Given the description of an element on the screen output the (x, y) to click on. 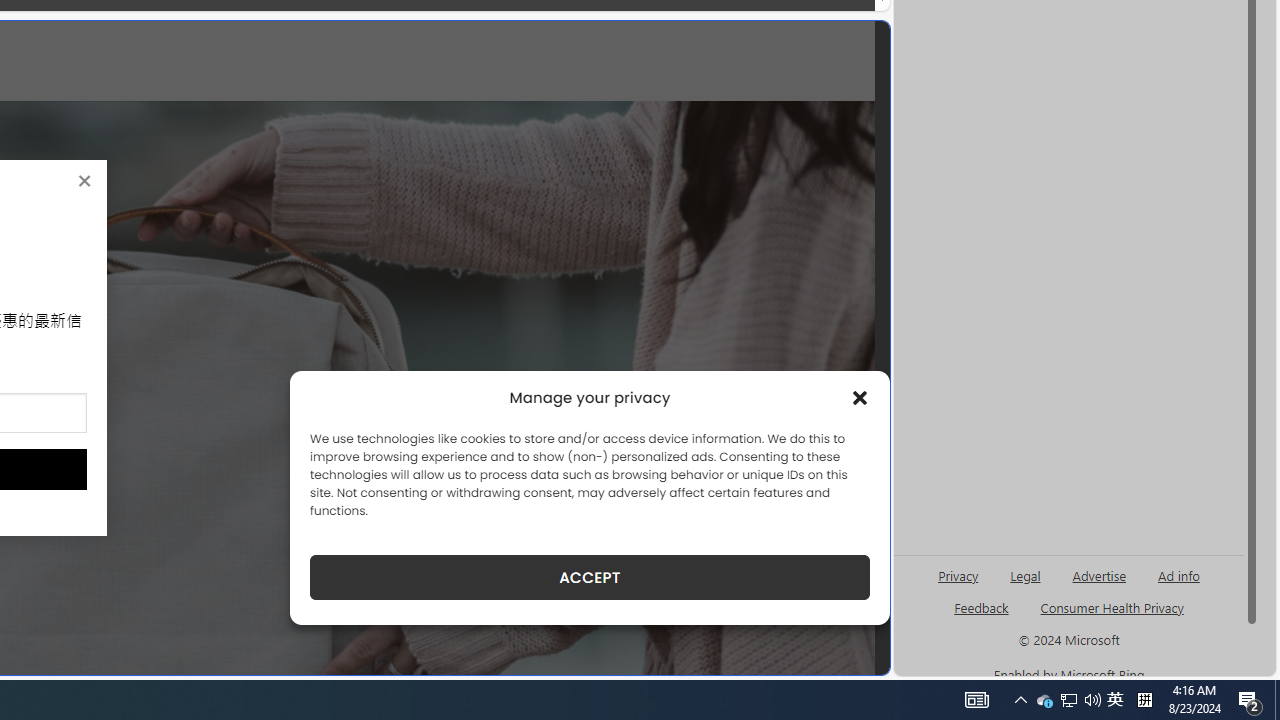
Class: cmplz-close (859, 398)
ACCEPT (589, 577)
AutomationID: sb_feedback (980, 607)
AutomationID: genId96 (981, 615)
